Given the description of an element on the screen output the (x, y) to click on. 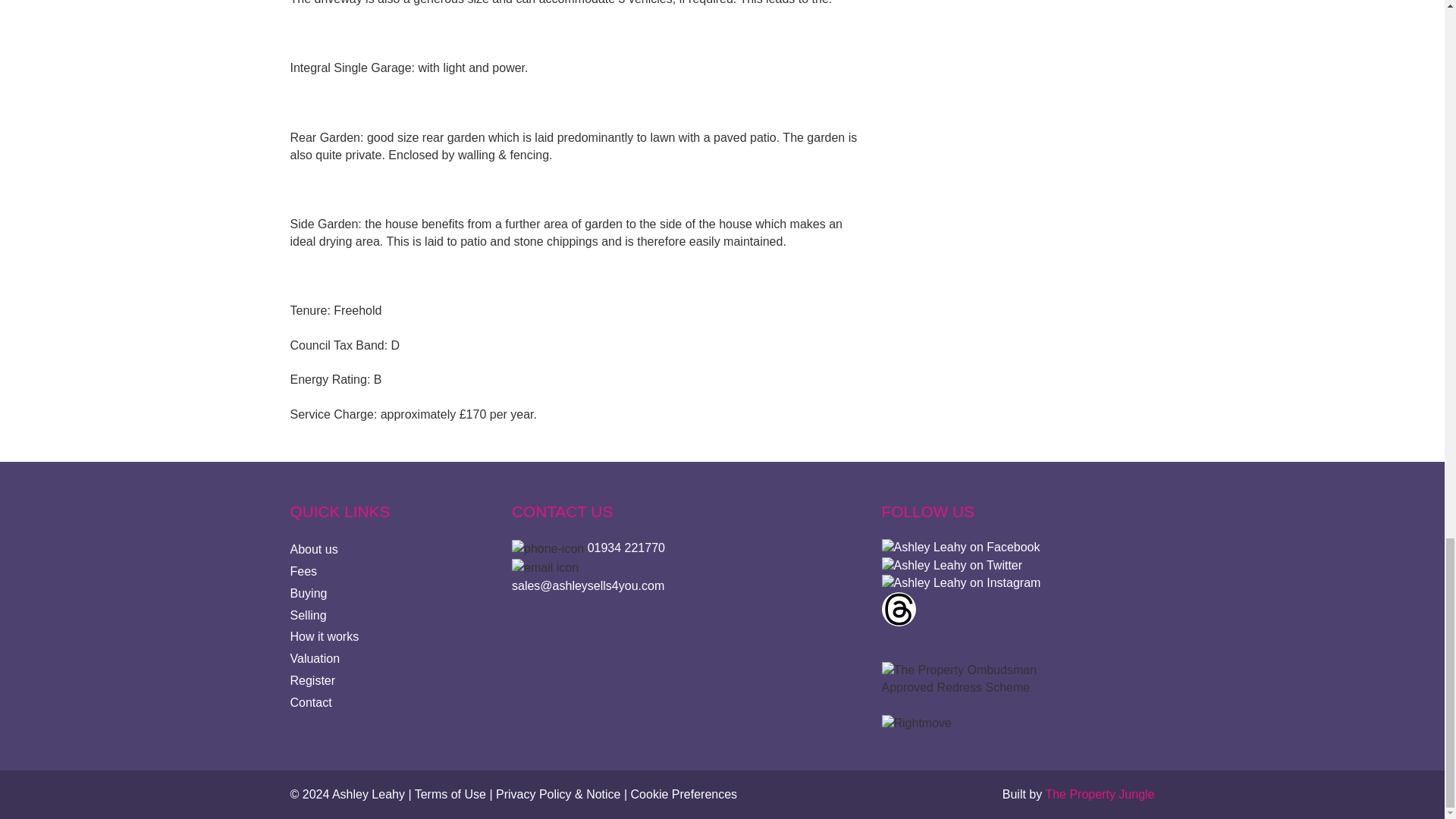
Valuation (314, 658)
Selling (307, 615)
How it works (323, 635)
Buying (307, 593)
Terms of Use (450, 793)
Fees (303, 571)
About Us (313, 549)
01934 221770 (626, 547)
Selling (307, 615)
Buying (307, 593)
